Given the description of an element on the screen output the (x, y) to click on. 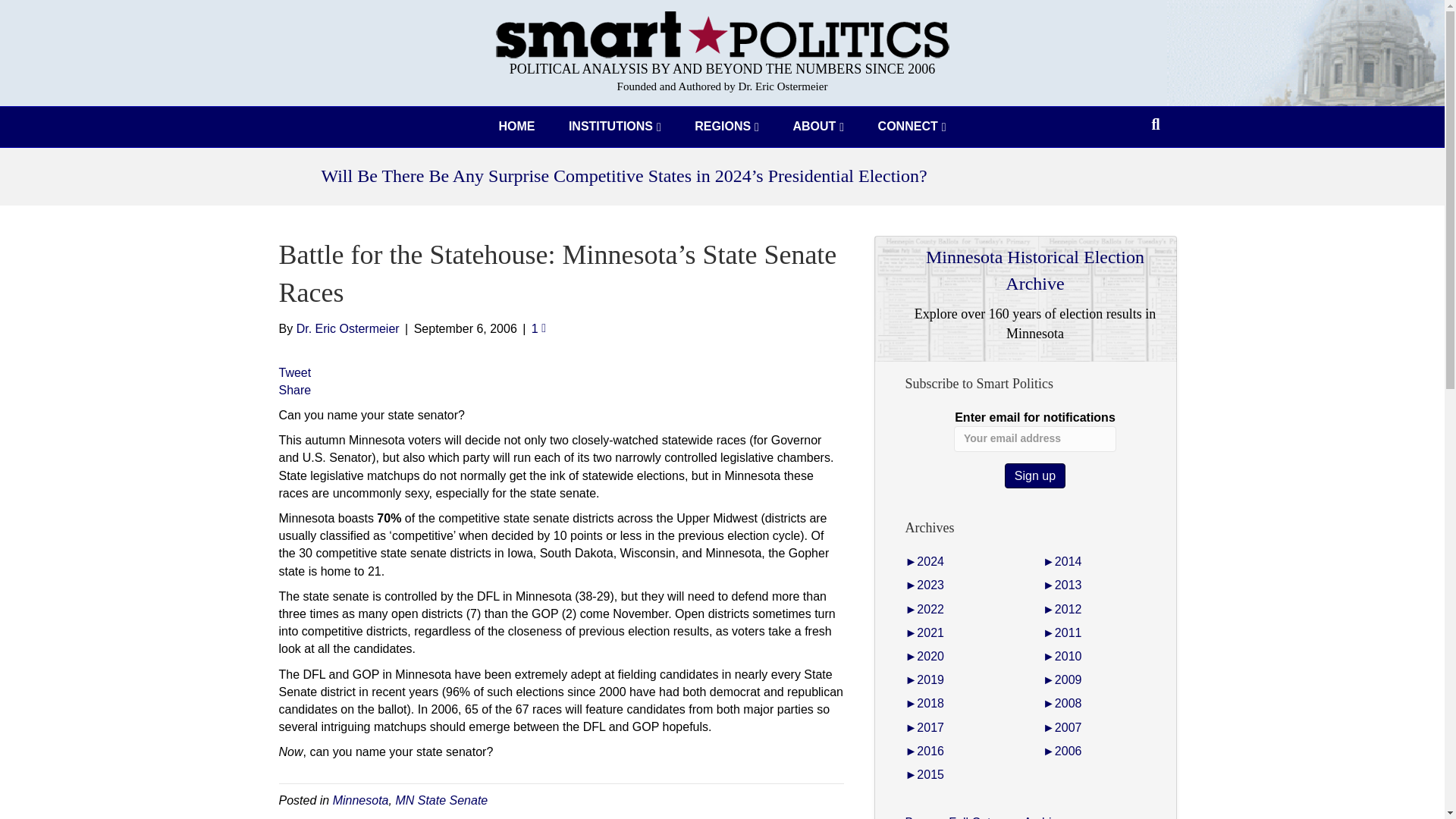
Sign up (1034, 475)
INSTITUTIONS (615, 127)
HOME (516, 126)
REGIONS (726, 127)
2024 (924, 561)
